Given the description of an element on the screen output the (x, y) to click on. 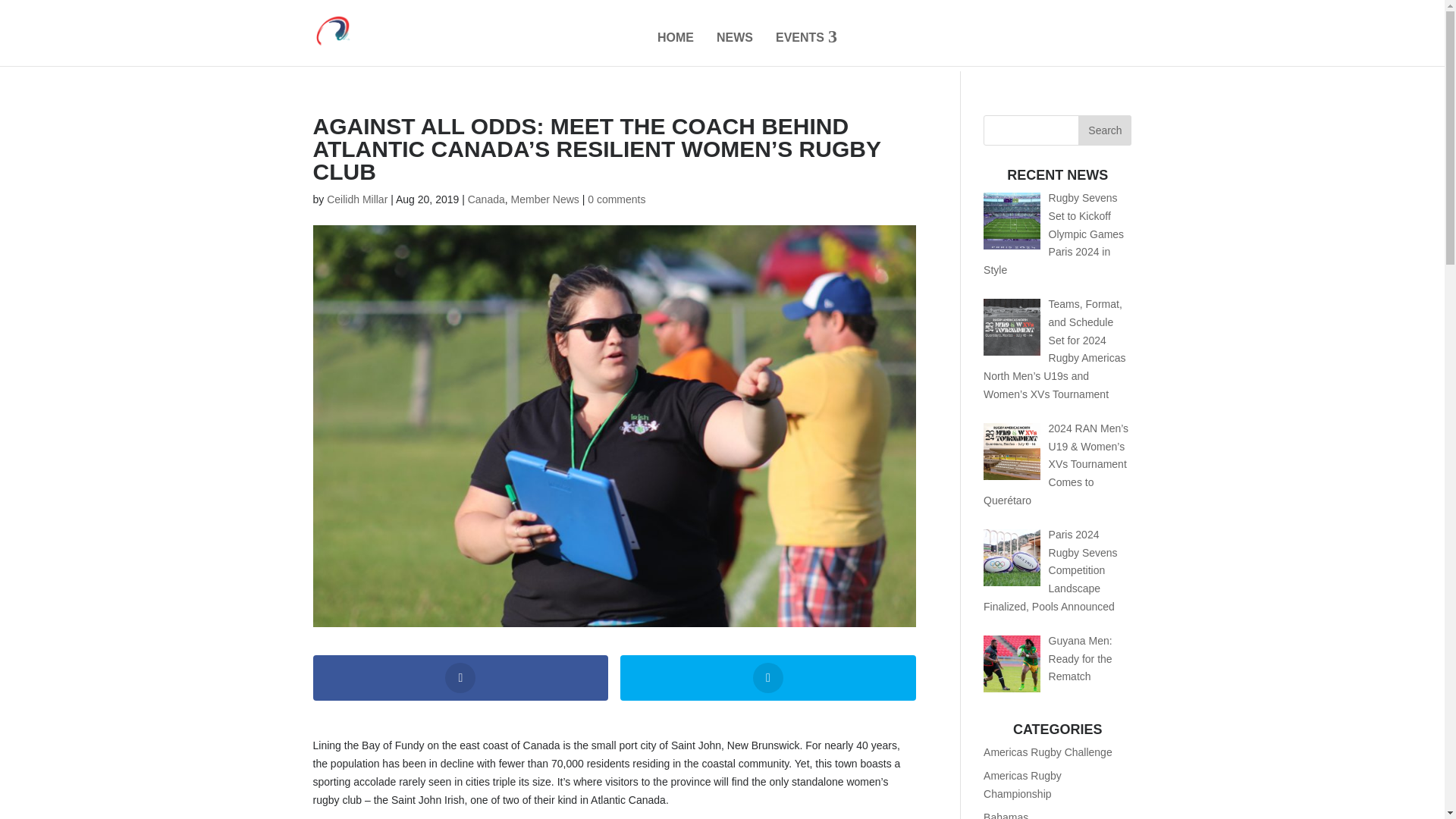
NEWS (734, 37)
EVENTS (807, 37)
Search (1104, 130)
Posts by Ceilidh Millar (356, 199)
HOME (675, 37)
